Given the description of an element on the screen output the (x, y) to click on. 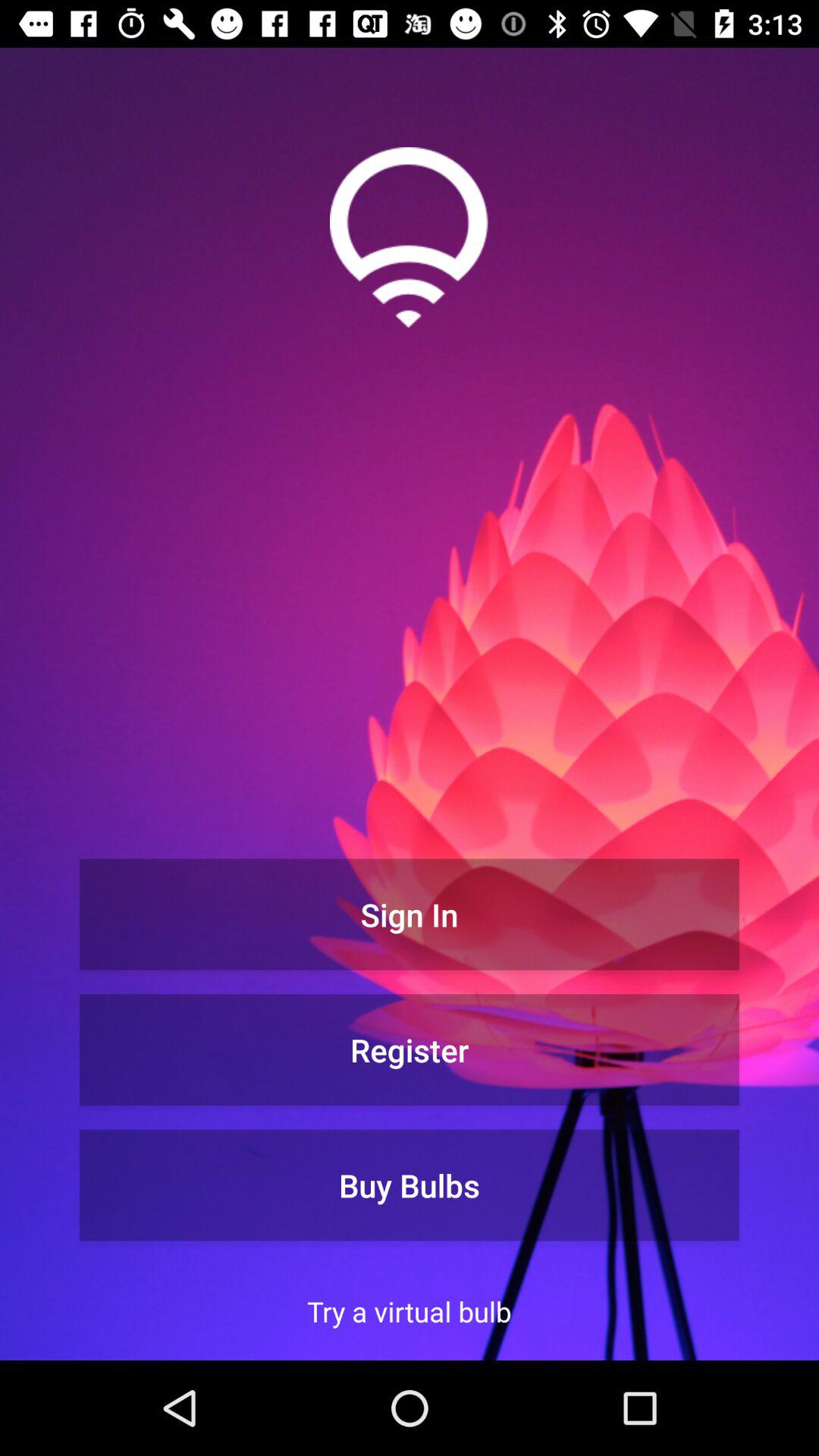
select button below sign in button (409, 1049)
